Given the description of an element on the screen output the (x, y) to click on. 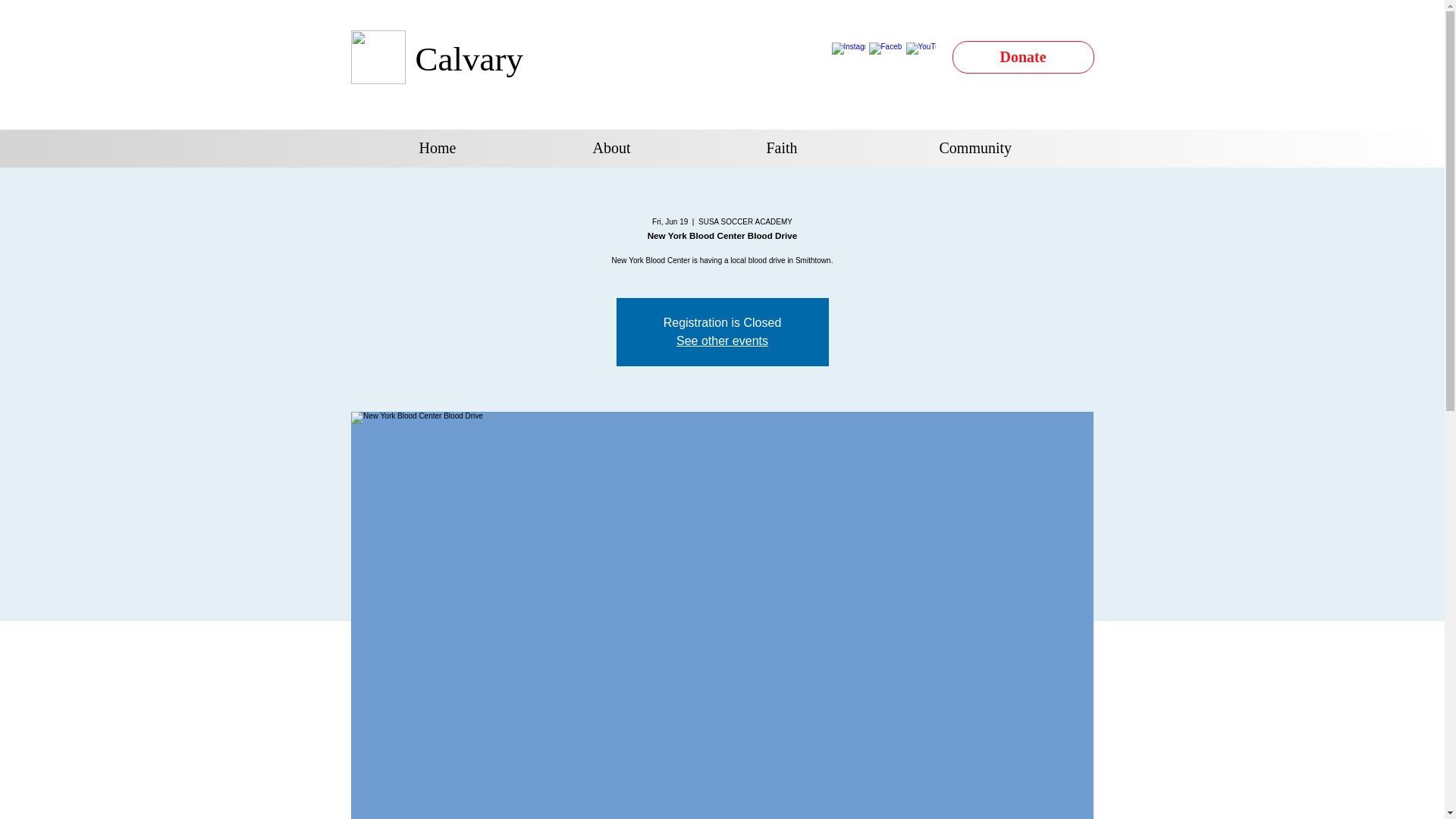
Home (497, 148)
About (671, 148)
Donate (1023, 56)
See other events (722, 340)
Faith (844, 148)
Community (1017, 148)
